Given the description of an element on the screen output the (x, y) to click on. 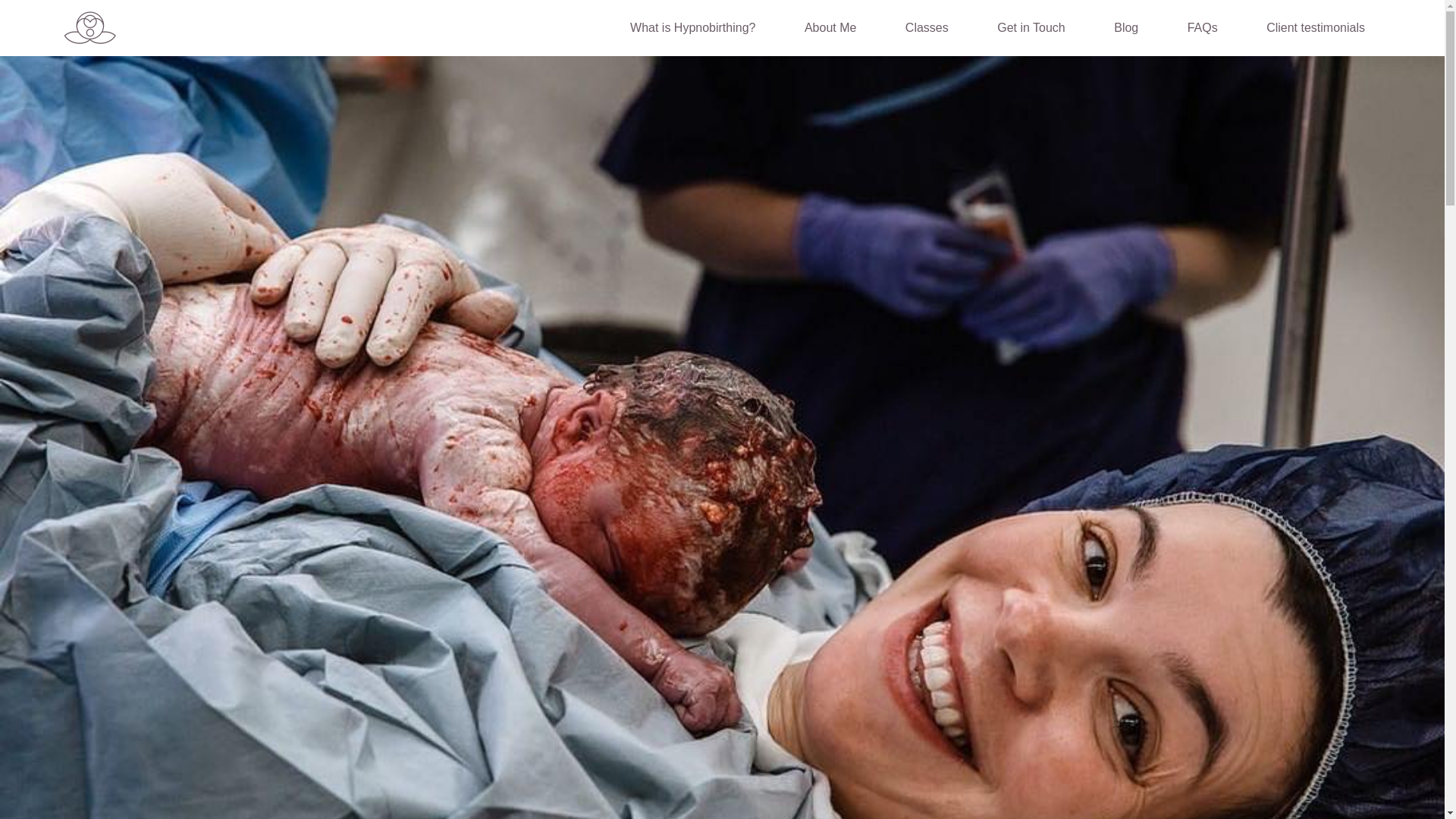
Classes (927, 27)
About Me (830, 27)
What is Hypnobirthing? (692, 27)
FAQs (1202, 27)
Blog (1125, 27)
Client testimonials (1315, 27)
Get in Touch (1031, 27)
